Given the description of an element on the screen output the (x, y) to click on. 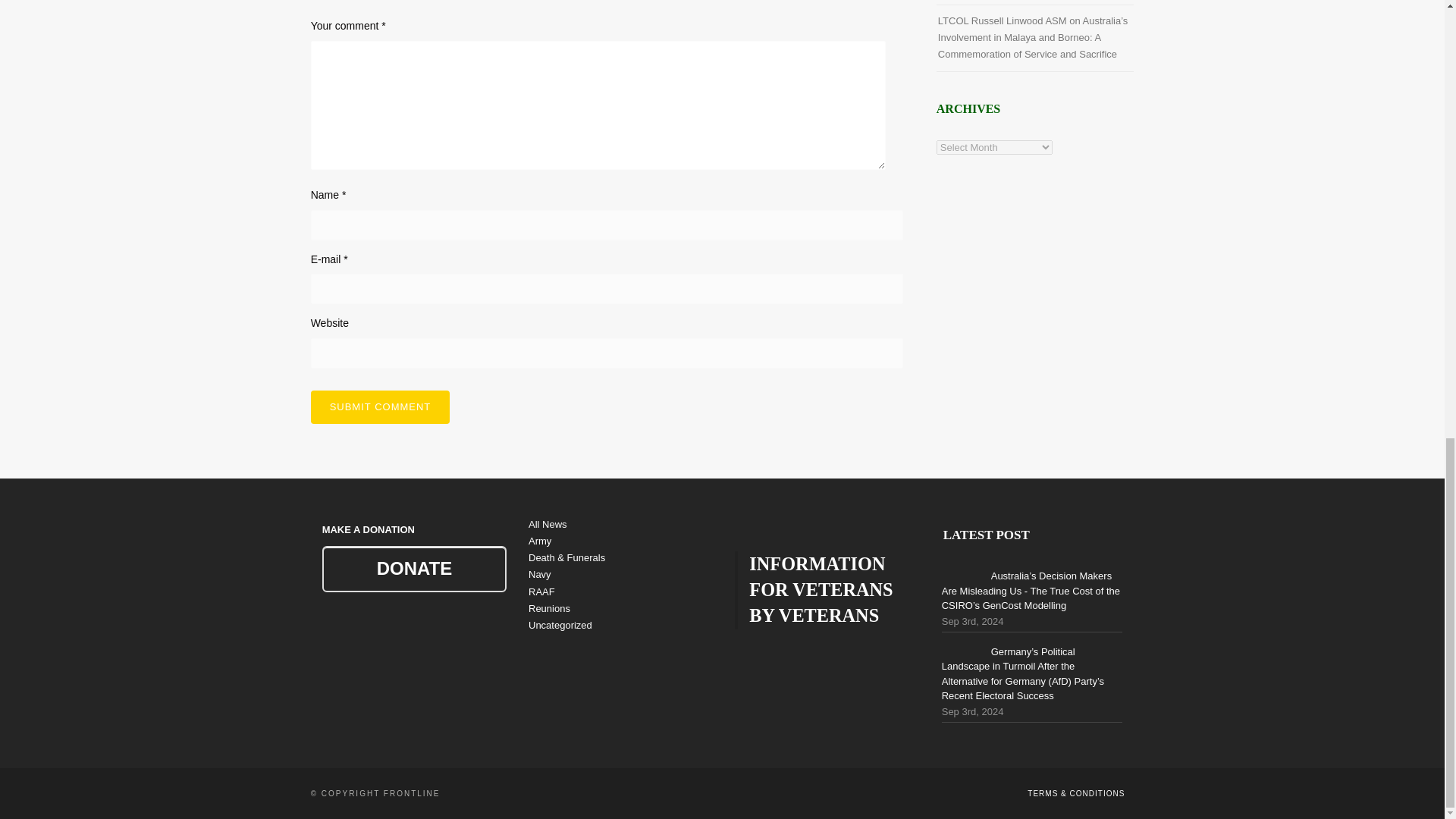
All News (547, 523)
DONATE (413, 569)
Submit comment (380, 407)
Submit comment (380, 407)
Army (539, 541)
